Given the description of an element on the screen output the (x, y) to click on. 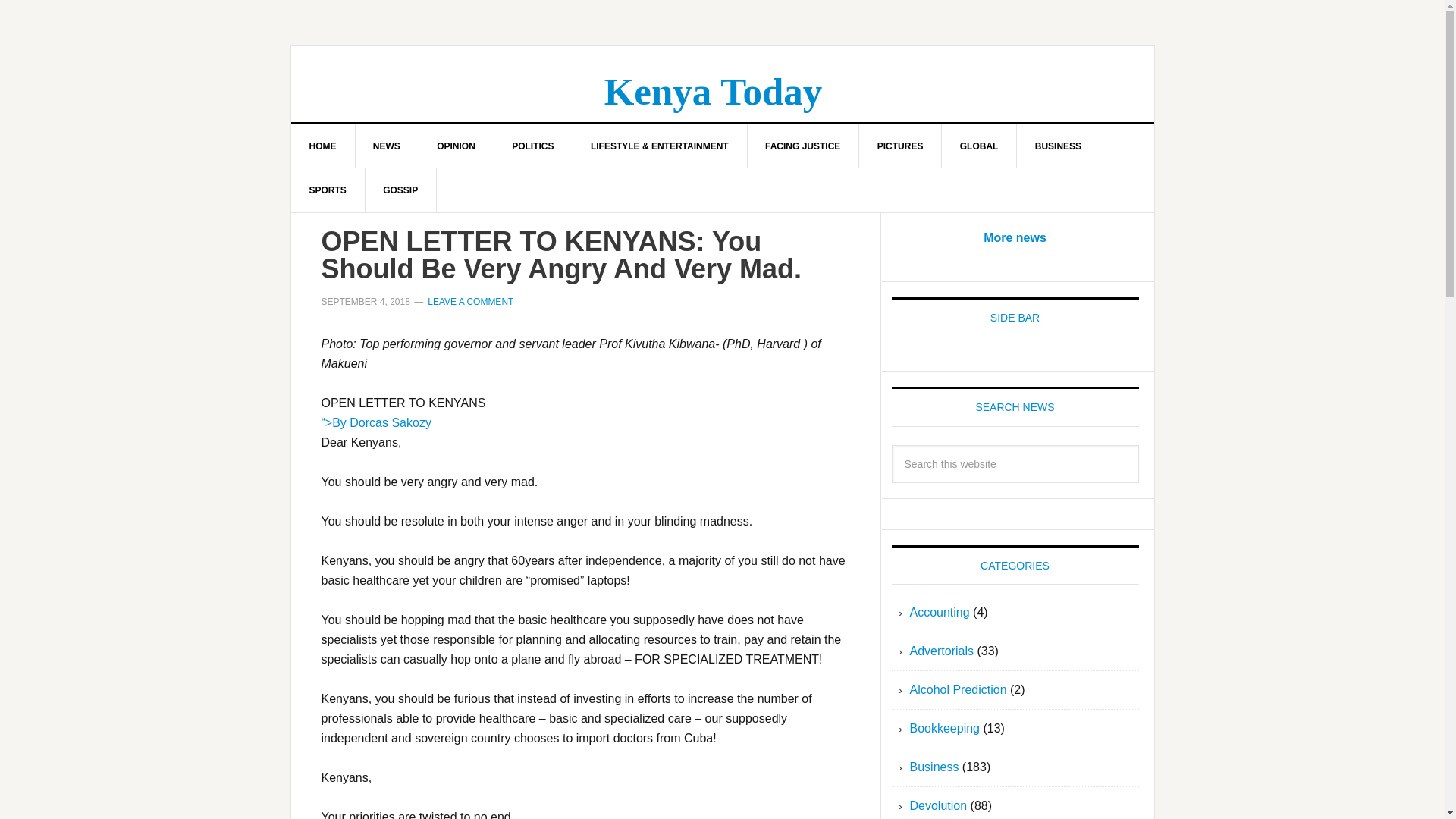
Alcohol Prediction (958, 689)
GOSSIP (400, 190)
GLOBAL (979, 146)
SPORTS (328, 190)
LEAVE A COMMENT (470, 301)
Devolution (939, 805)
PICTURES (900, 146)
